Given the description of an element on the screen output the (x, y) to click on. 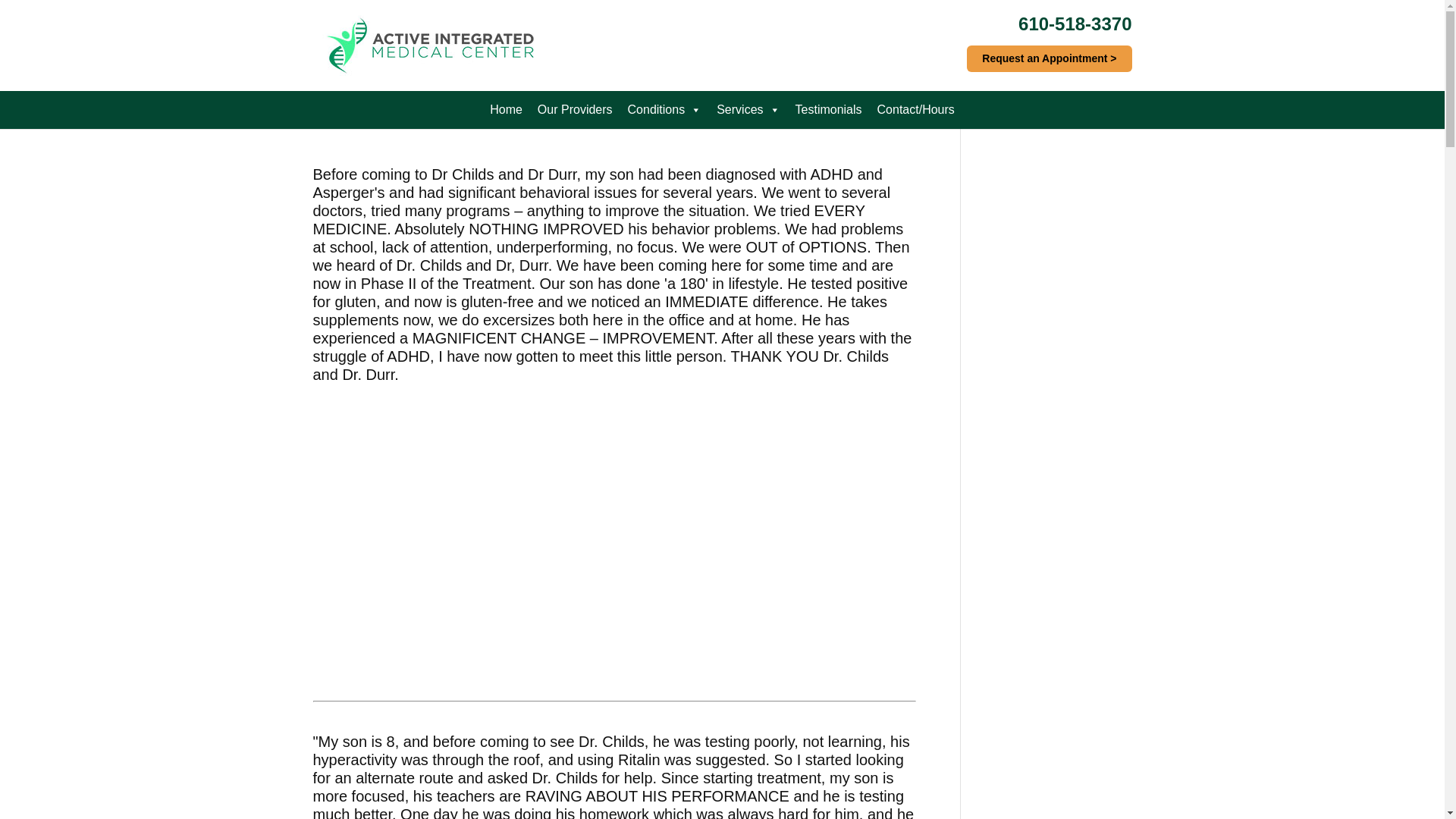
Conditions (665, 109)
610-518-3370 (1074, 23)
Home (505, 109)
Our Providers (574, 109)
Services (748, 109)
